Given the description of an element on the screen output the (x, y) to click on. 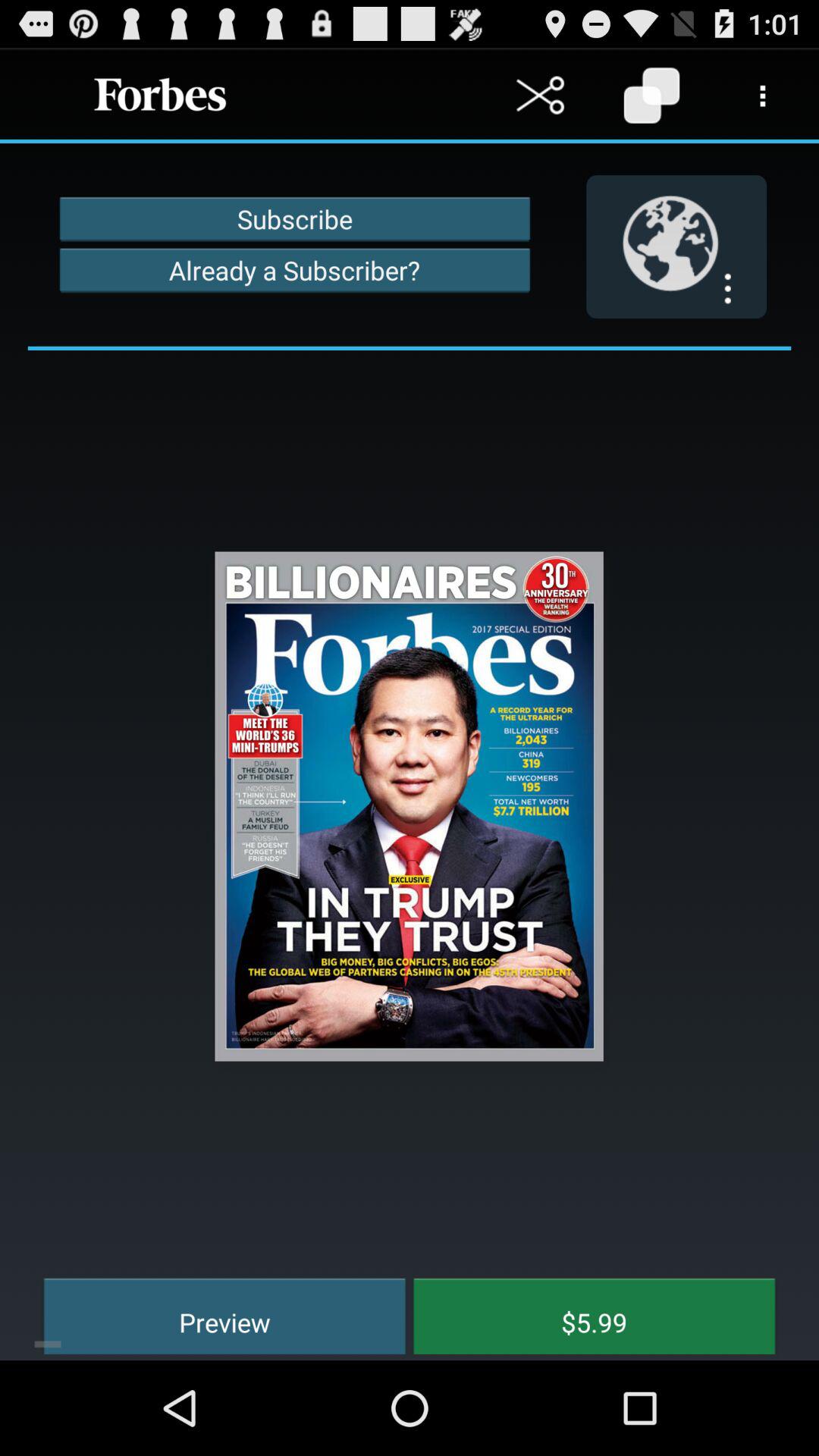
cut button (540, 95)
